Given the description of an element on the screen output the (x, y) to click on. 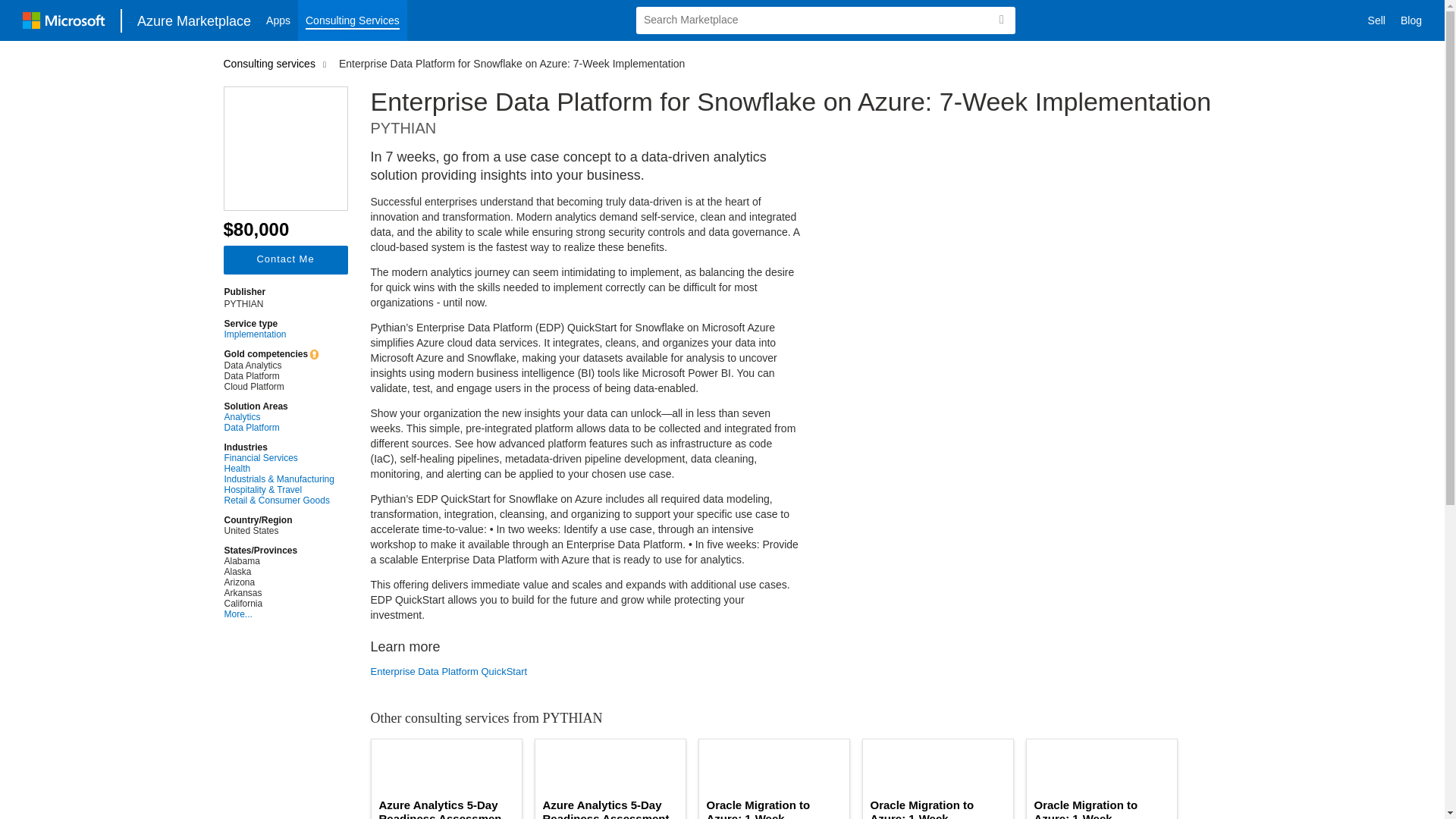
Apps (278, 20)
Blog (1411, 20)
 Oracle Migration to Azure: 1-Week Assessment (1101, 808)
Data Platform (279, 427)
Azure Analytics 5-Day Readiness Assessment (610, 808)
Consulting services (271, 63)
Enterprise Data Platform QuickStart (585, 671)
Contact Me (284, 259)
Health (279, 468)
Implementation (279, 334)
